Given the description of an element on the screen output the (x, y) to click on. 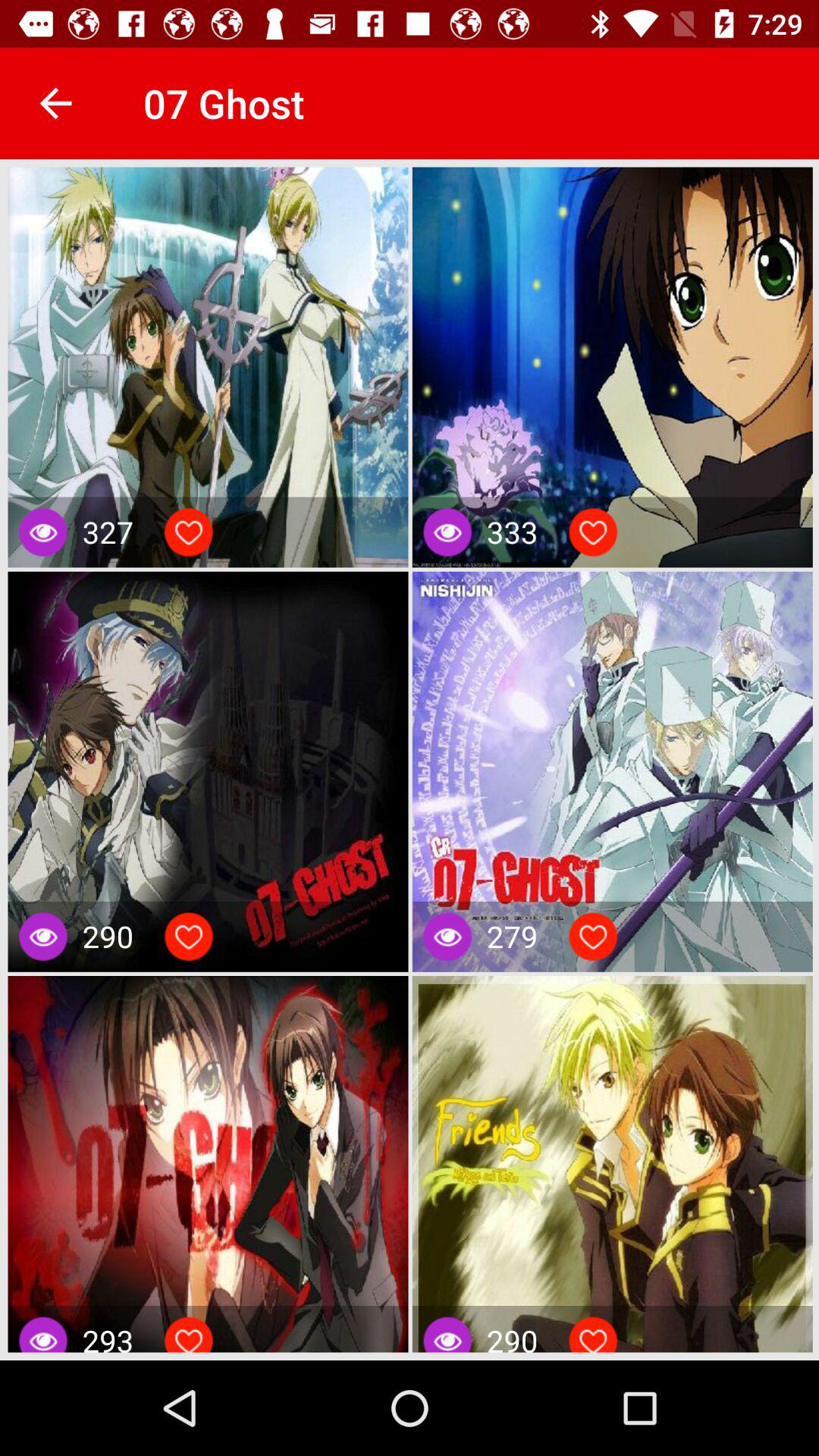
click to like (188, 1338)
